Given the description of an element on the screen output the (x, y) to click on. 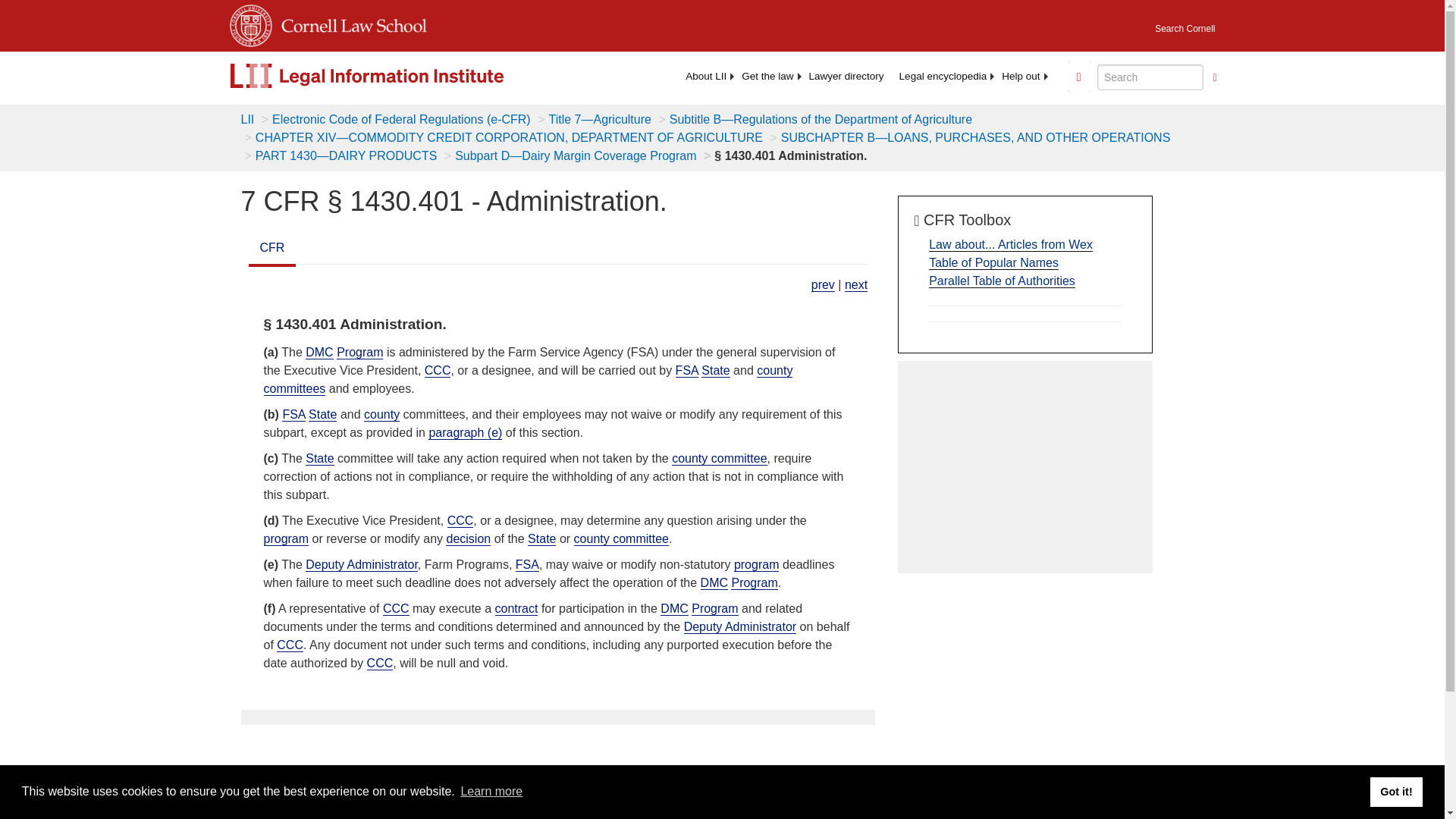
Learn more (491, 791)
Legal encyclopedia (942, 76)
Lawyer directory (846, 76)
Cornell University (249, 23)
Search Cornell (1184, 24)
Get the law (766, 76)
Cornell Law School (348, 23)
Cornell Law School (348, 23)
Purpose. (822, 284)
Got it! (1396, 791)
